Given the description of an element on the screen output the (x, y) to click on. 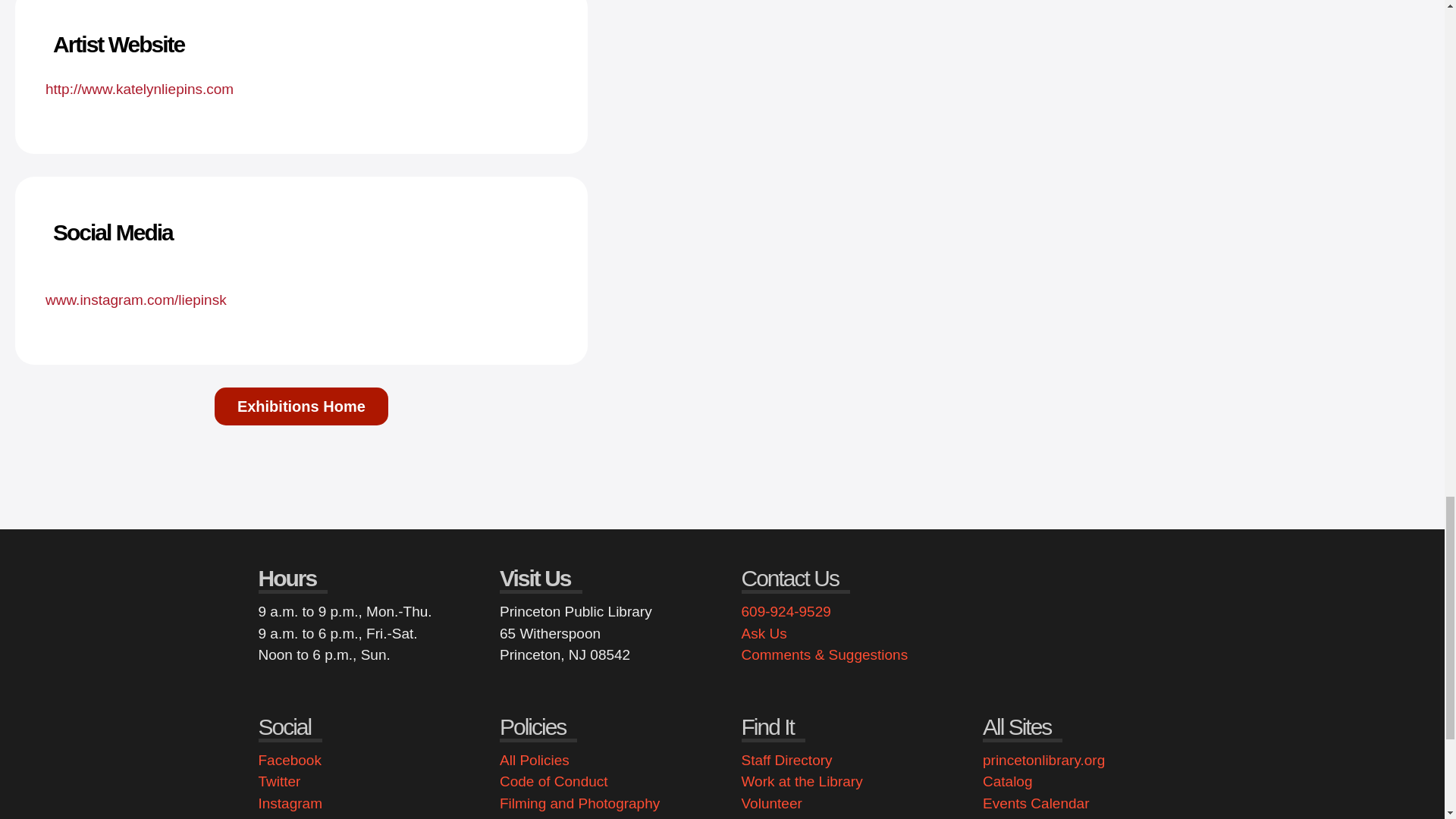
Exhibitions Home (301, 406)
